Given the description of an element on the screen output the (x, y) to click on. 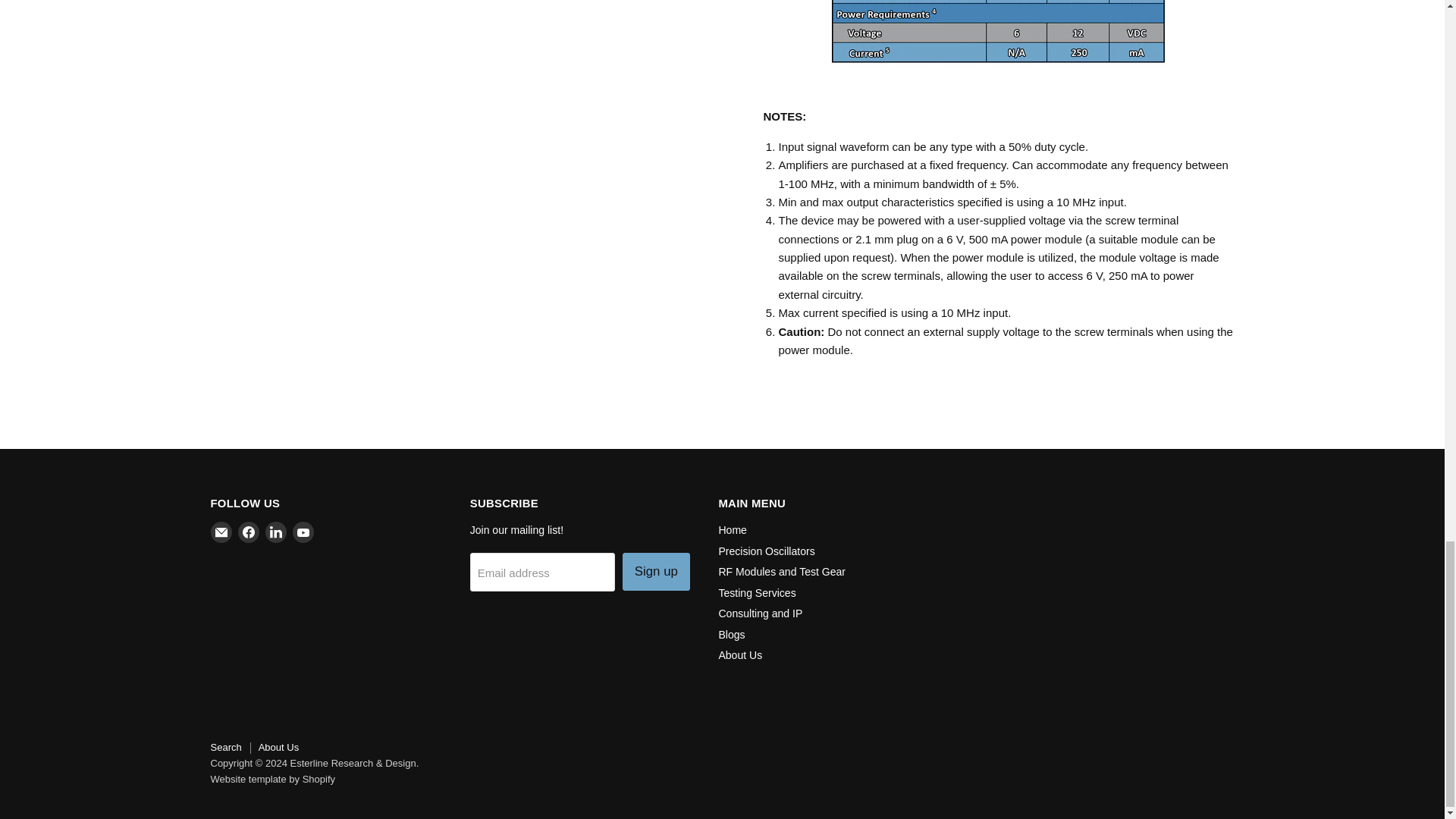
LinkedIn (275, 531)
YouTube (303, 531)
Email (221, 531)
Facebook (248, 531)
